Given the description of an element on the screen output the (x, y) to click on. 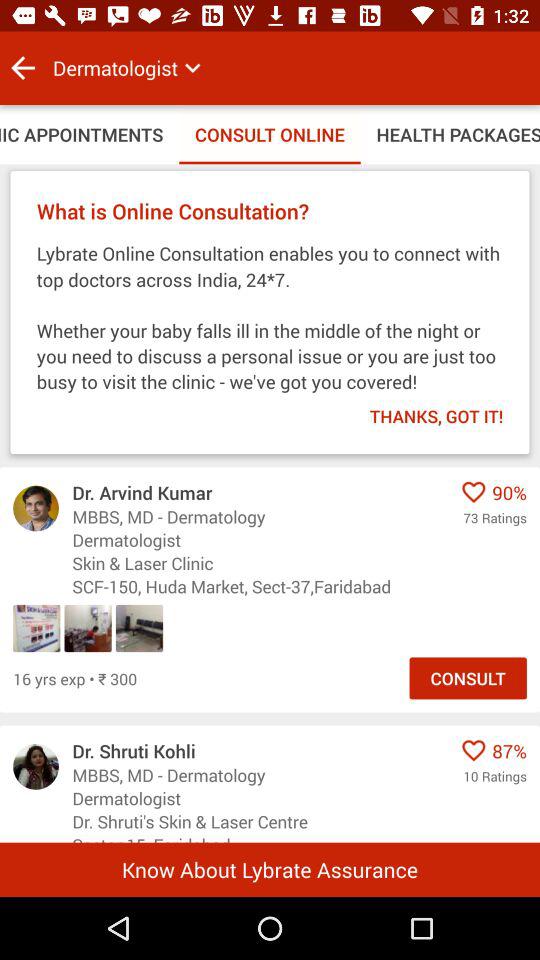
jump to know about lybrate (270, 869)
